Given the description of an element on the screen output the (x, y) to click on. 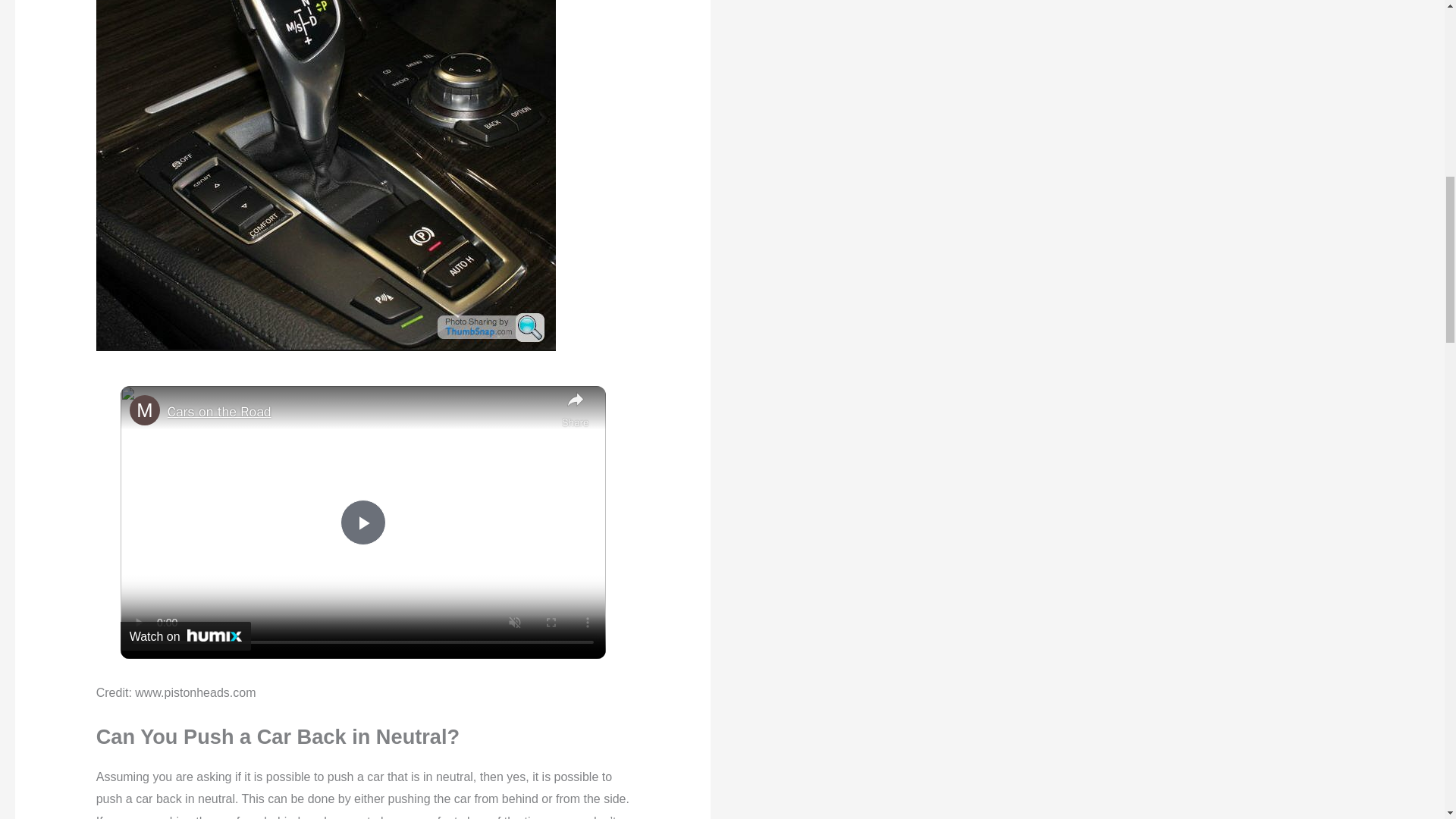
Cars on the Road (360, 412)
Watch on (185, 635)
Play Video (362, 522)
Play Video (362, 522)
